Given the description of an element on the screen output the (x, y) to click on. 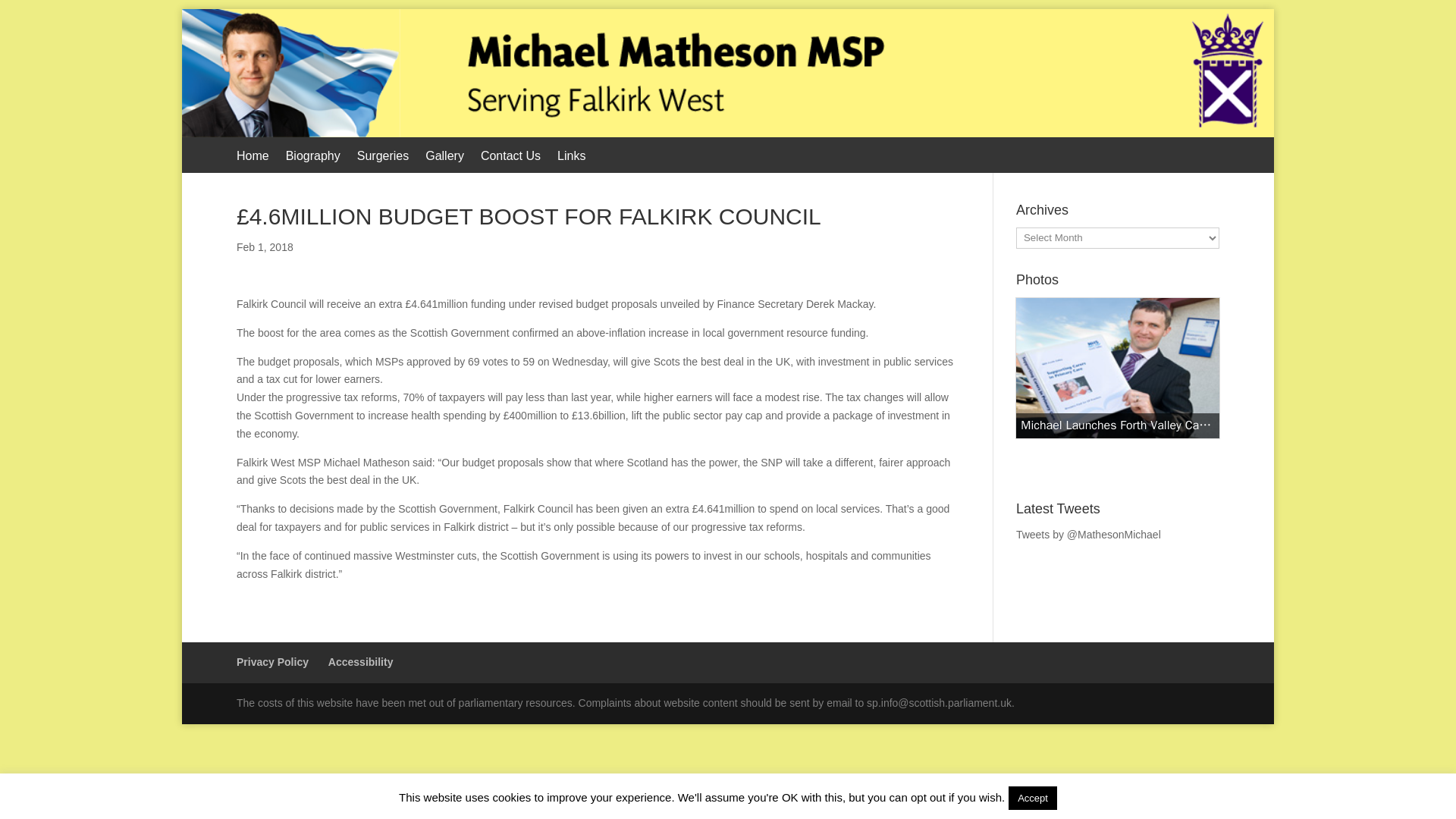
Contact Us (510, 161)
Michael Launches Forth Valley Carers Pack (1118, 368)
Accessibility (361, 662)
Privacy Policy (271, 662)
Home (252, 161)
Biography (312, 161)
Gallery (444, 161)
Links (571, 161)
Surgeries (382, 161)
